Given the description of an element on the screen output the (x, y) to click on. 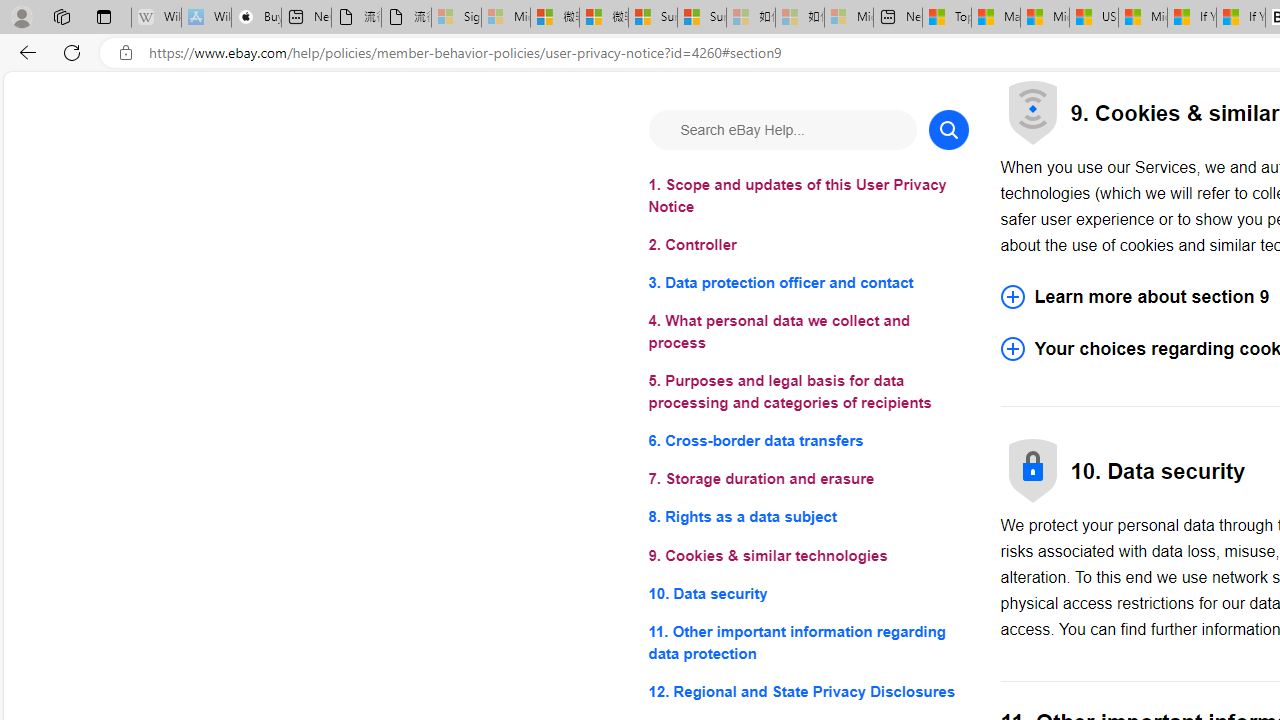
8. Rights as a data subject (807, 517)
